Given the description of an element on the screen output the (x, y) to click on. 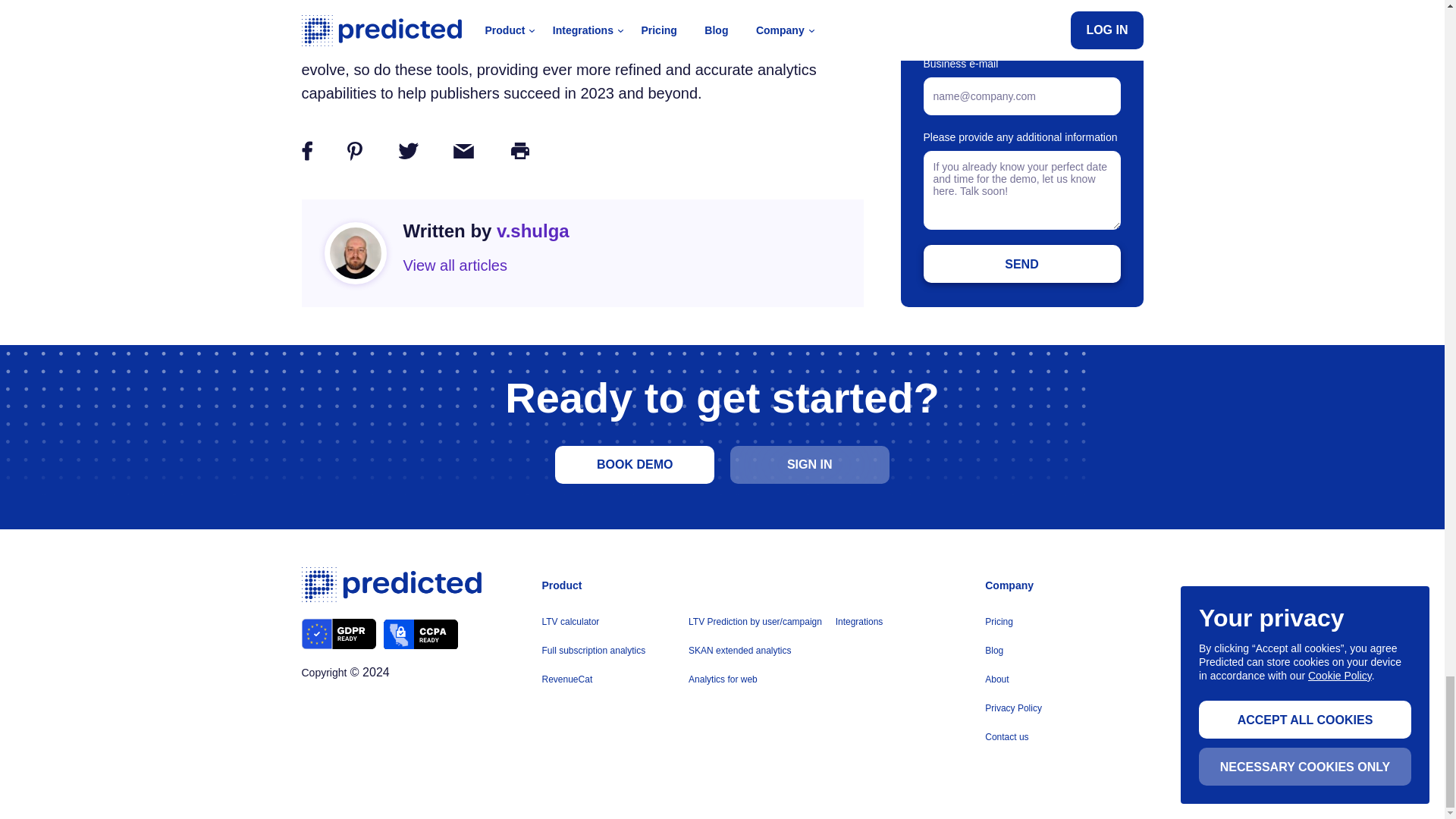
Share on Pinterest (355, 154)
Print article (520, 153)
Share on Facebook (306, 153)
Tweet about this on Twitter (408, 153)
Email about this article (463, 154)
